Given the description of an element on the screen output the (x, y) to click on. 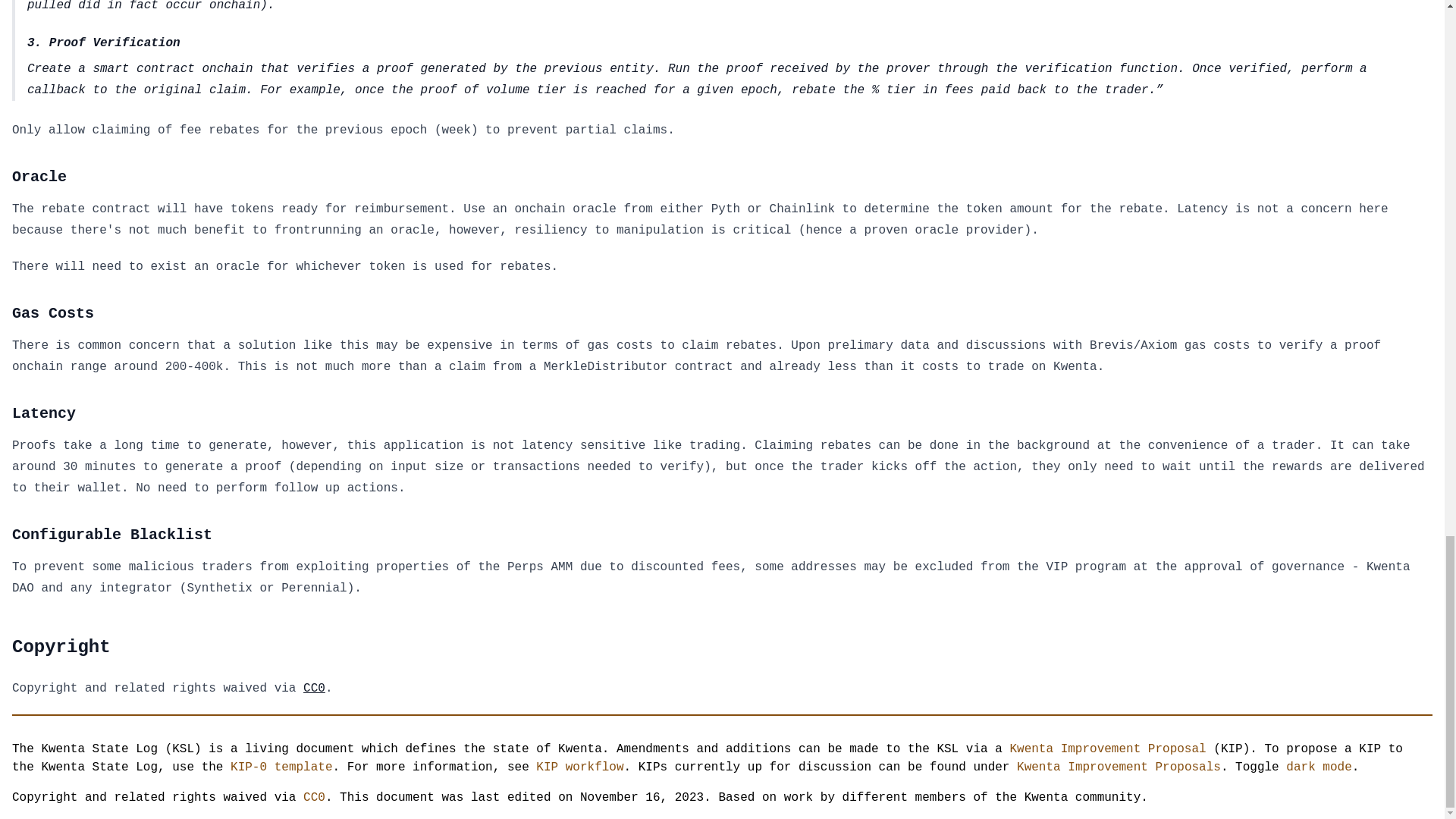
CC0 (313, 688)
CC0 (313, 797)
KIP-0 template (280, 766)
Kwenta Improvement Proposals (1118, 766)
Kwenta Improvement Proposal (1107, 748)
dark mode (1318, 766)
KIP workflow (579, 766)
